Given the description of an element on the screen output the (x, y) to click on. 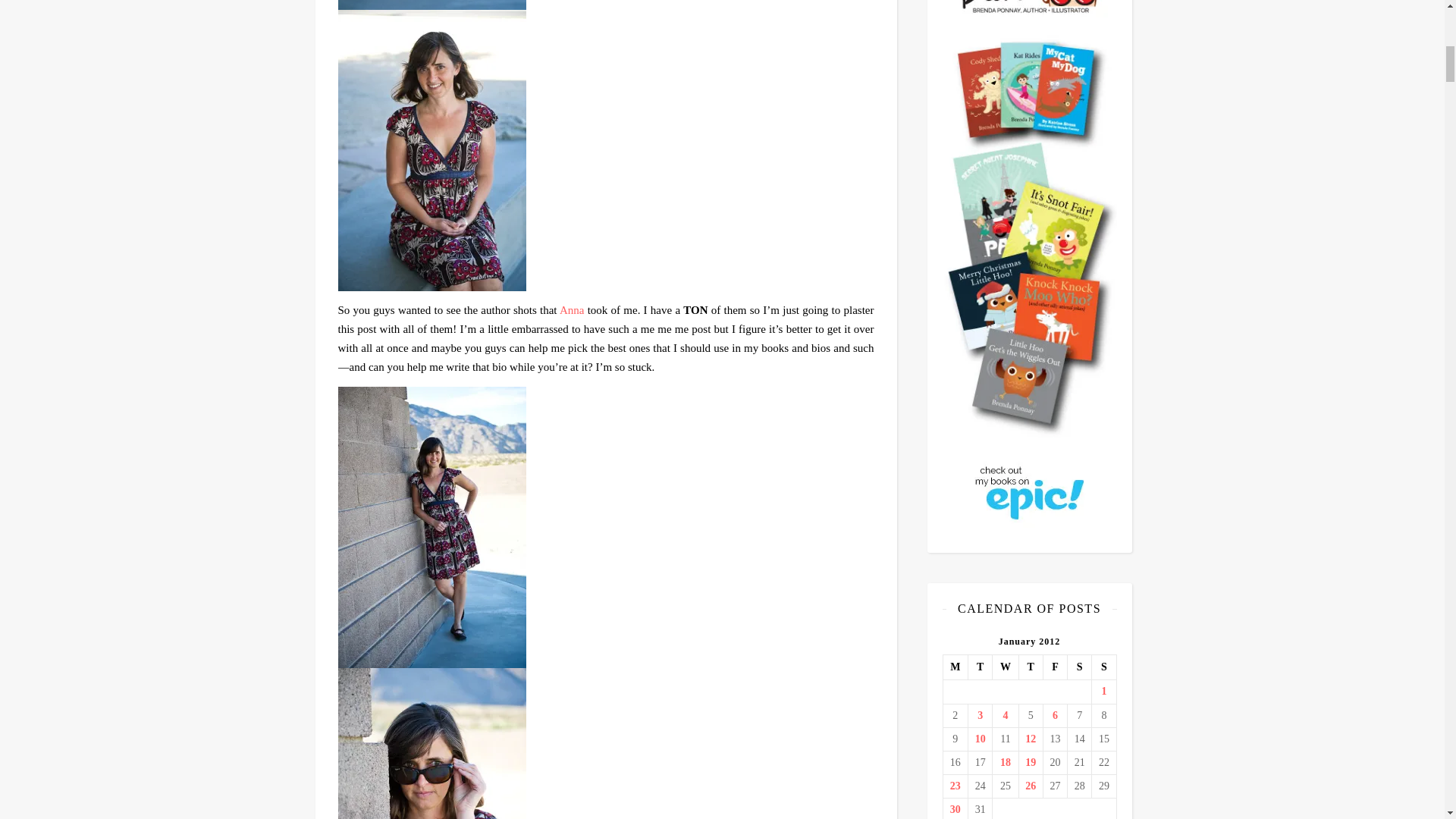
BrendaPonnay-1 by secret agent josephine, on Flickr (606, 4)
BrendaPonnay-3 by secret agent josephine, on Flickr (606, 743)
Anna (572, 309)
